Given the description of an element on the screen output the (x, y) to click on. 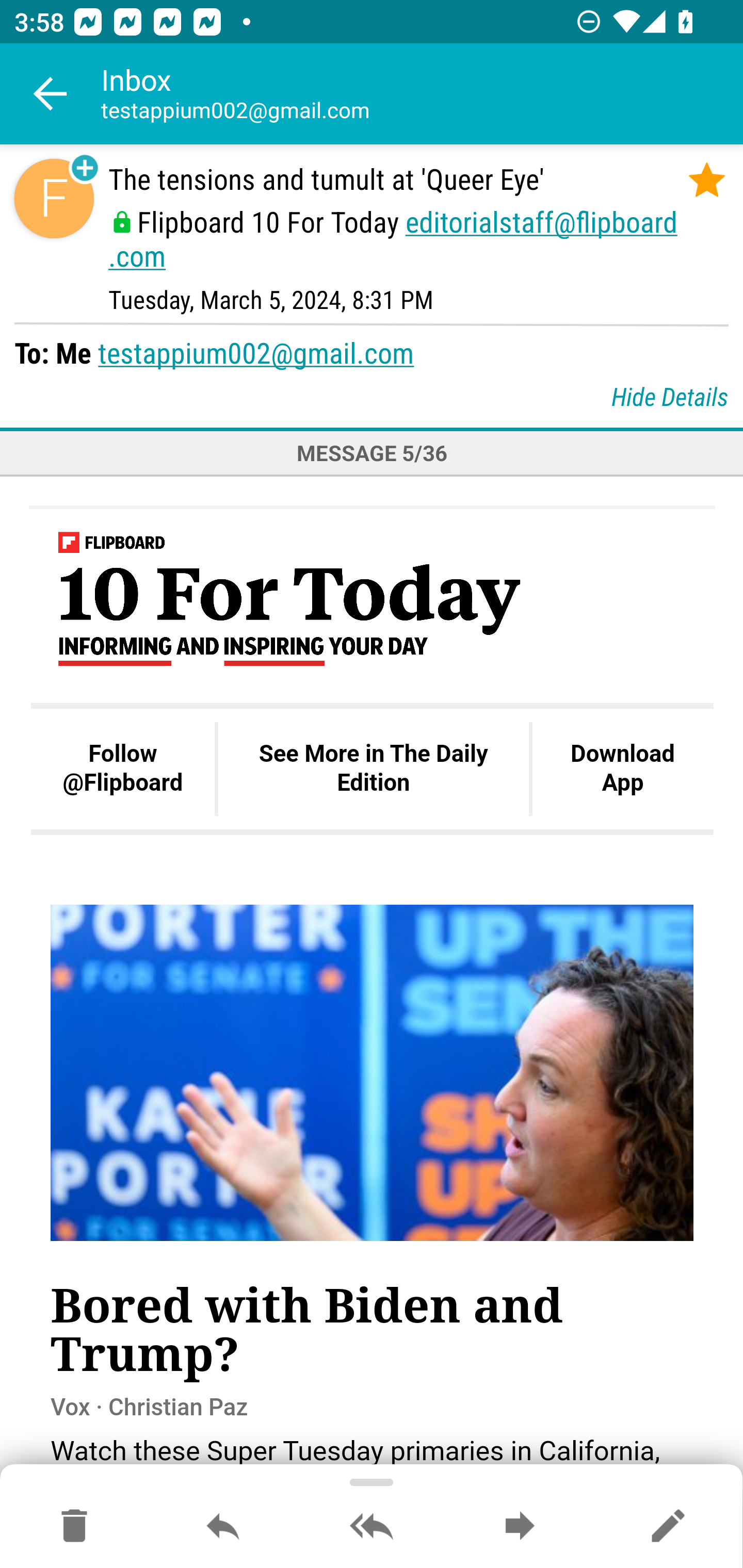
Navigate up (50, 93)
Inbox testappium002@gmail.com (422, 93)
Sender contact button (53, 198)
Follow @Flipboard Follow  @Flipboard (122, 769)
See More in The Daily Edition (372, 769)
Download App (622, 769)
Move to Deleted (74, 1527)
Reply (222, 1527)
Reply all (371, 1527)
Forward (519, 1527)
Reply as new (667, 1527)
